Given the description of an element on the screen output the (x, y) to click on. 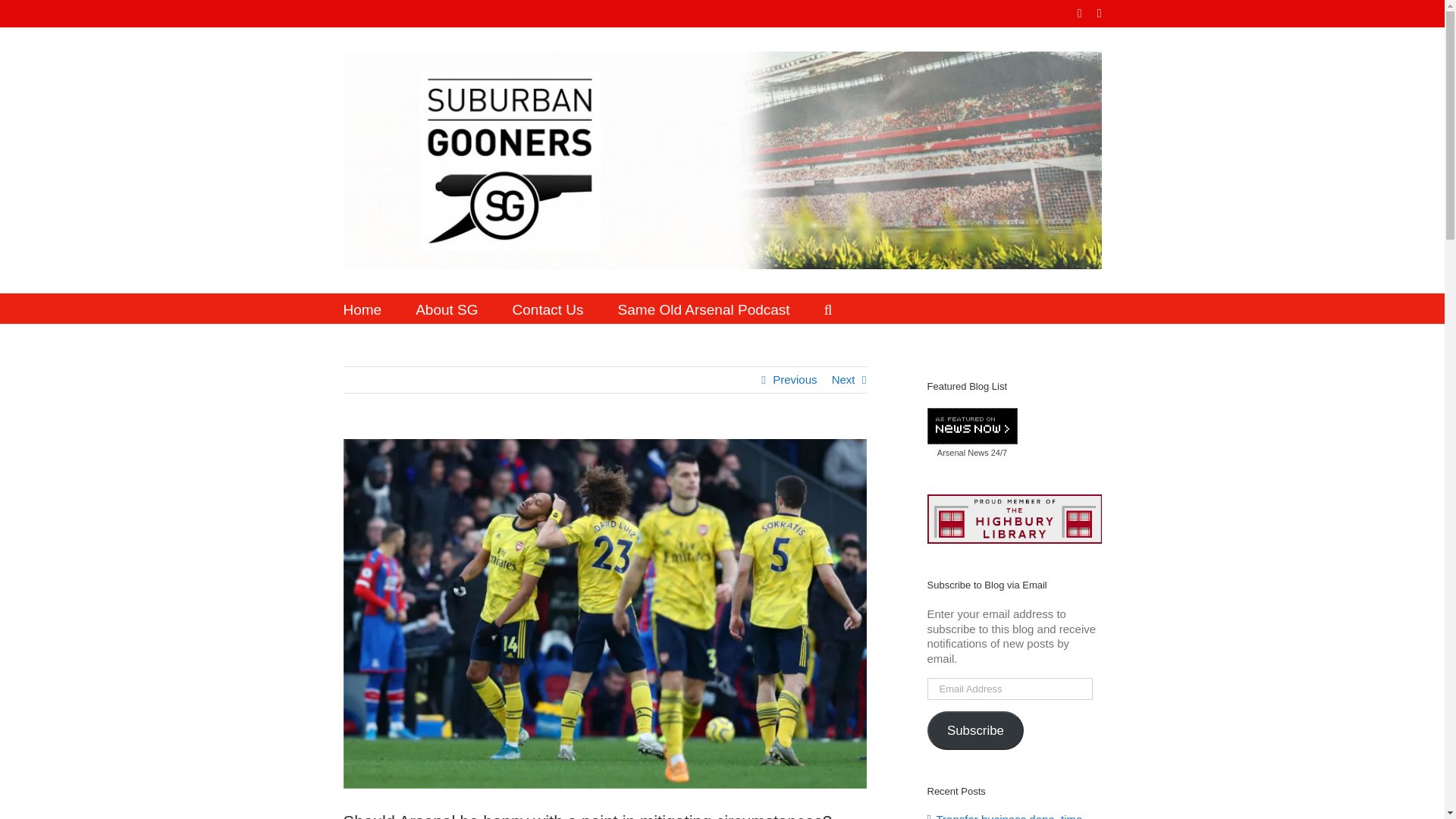
Subscribe (974, 730)
Same Old Arsenal Podcast (703, 308)
Next (843, 379)
Home (361, 308)
About SG (445, 308)
Arsenal News (962, 452)
Previous (794, 379)
Contact Us (547, 308)
